Given the description of an element on the screen output the (x, y) to click on. 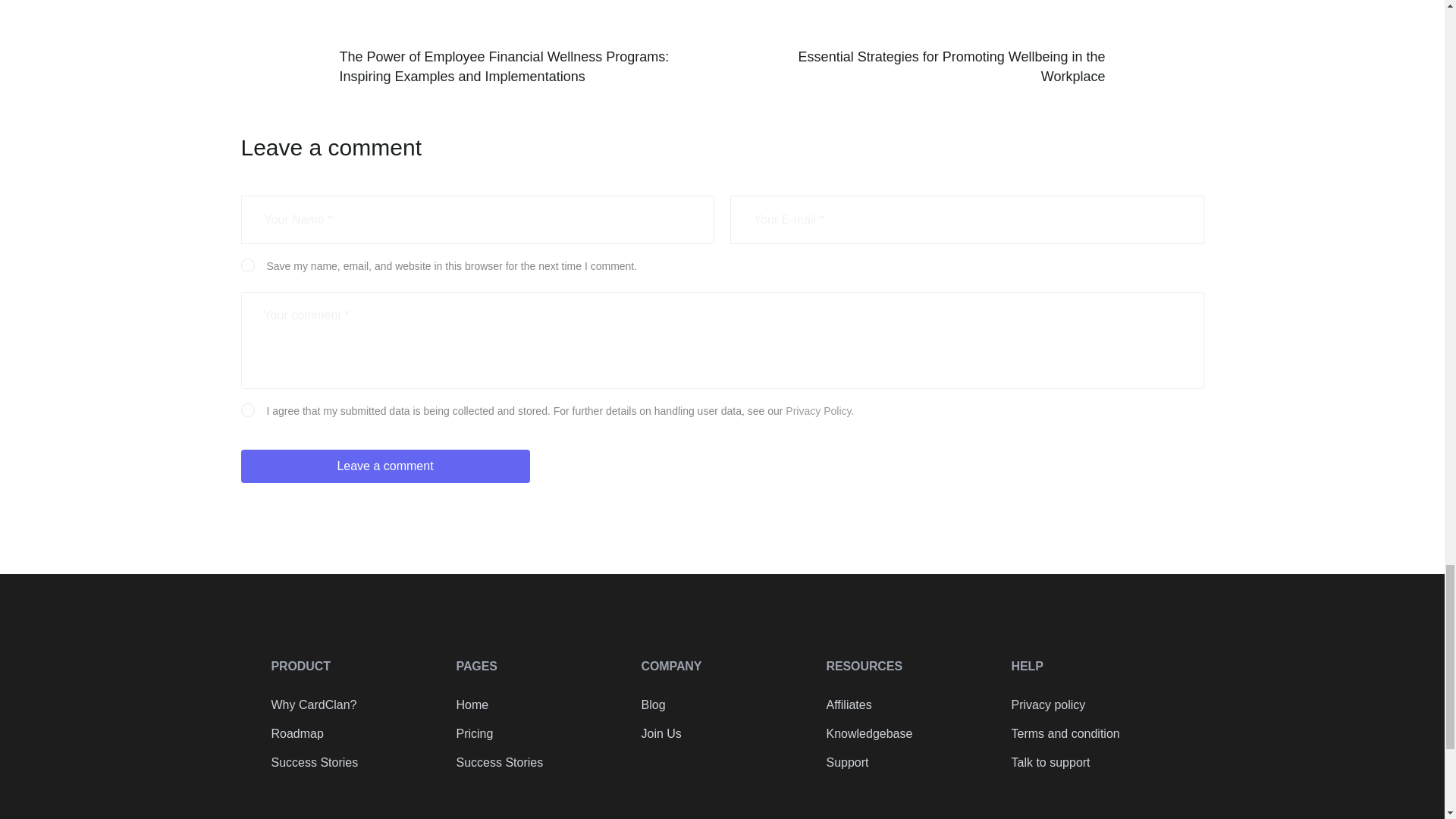
Why CardClan? (351, 705)
Affiliates (907, 705)
yes (245, 264)
Home (537, 705)
Success Stories (351, 762)
Blog (722, 705)
Leave a comment (385, 466)
Privacy policy (1092, 705)
Knowledgebase (907, 733)
Support (907, 762)
Privacy Policy (818, 410)
Pricing (537, 733)
Roadmap (351, 733)
